Given the description of an element on the screen output the (x, y) to click on. 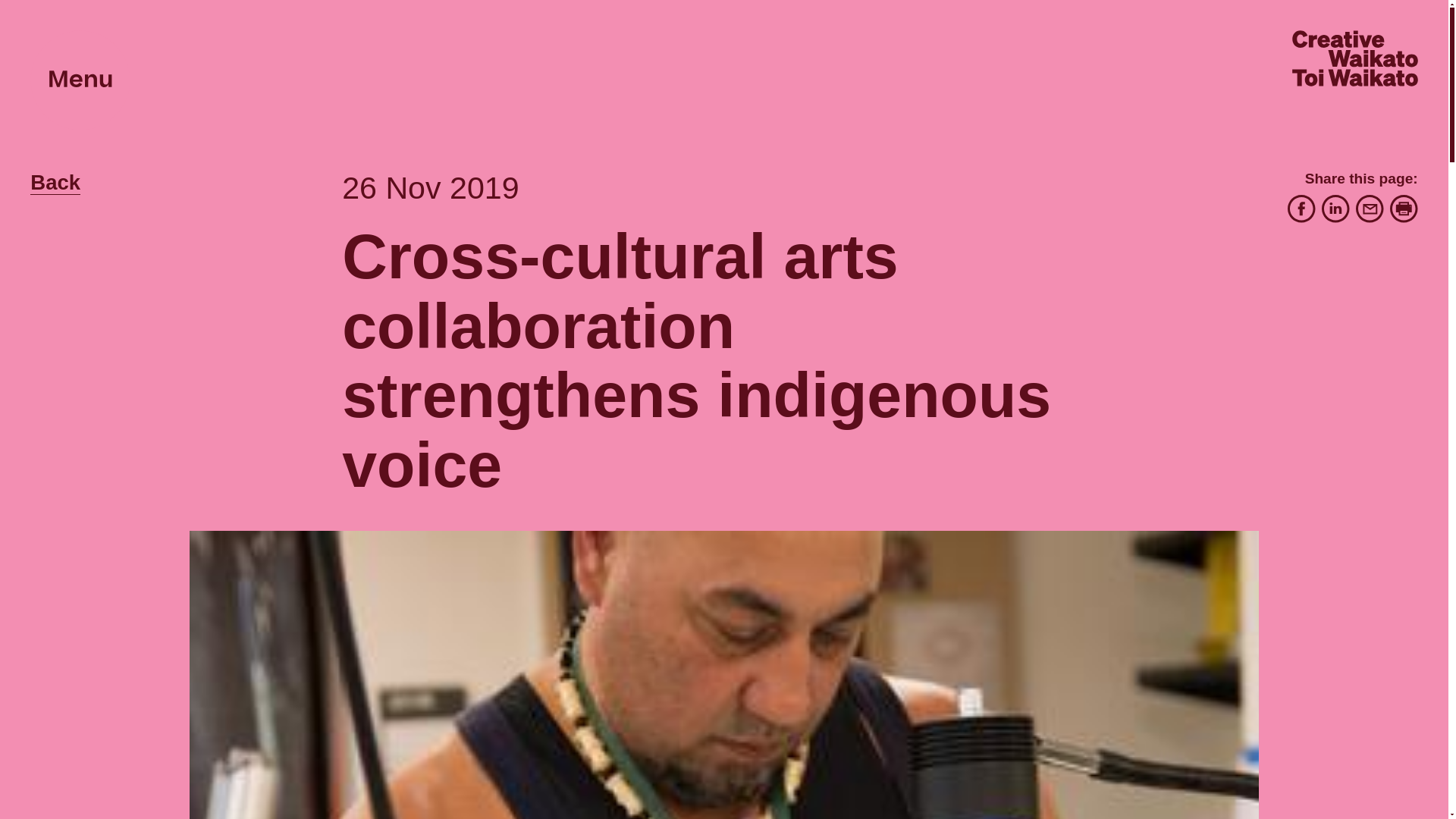
Toggle Nav Menu (80, 80)
Back (55, 182)
Creative Waikato (1355, 59)
